Given the description of an element on the screen output the (x, y) to click on. 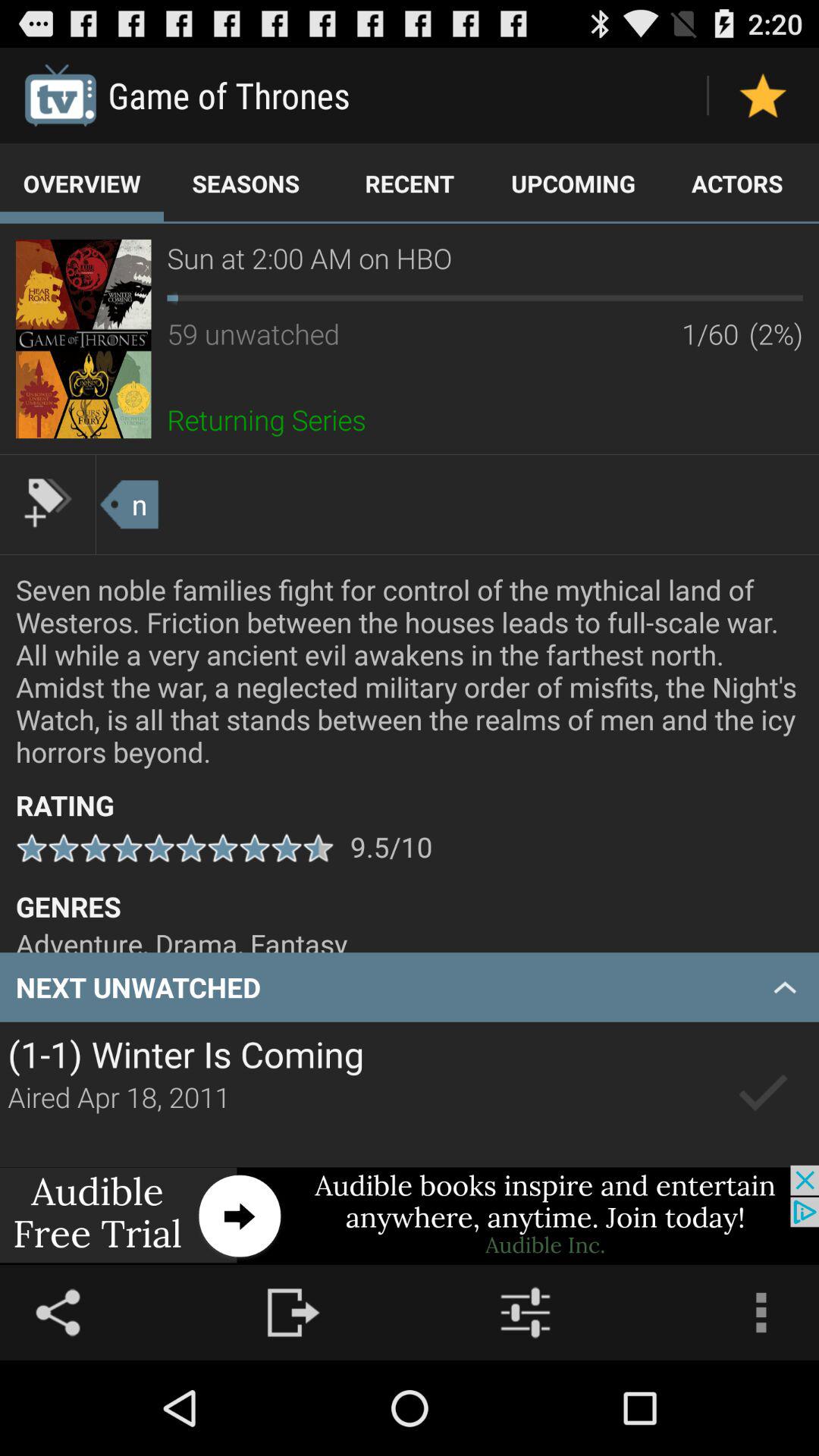
go to sealkt (763, 1093)
